Given the description of an element on the screen output the (x, y) to click on. 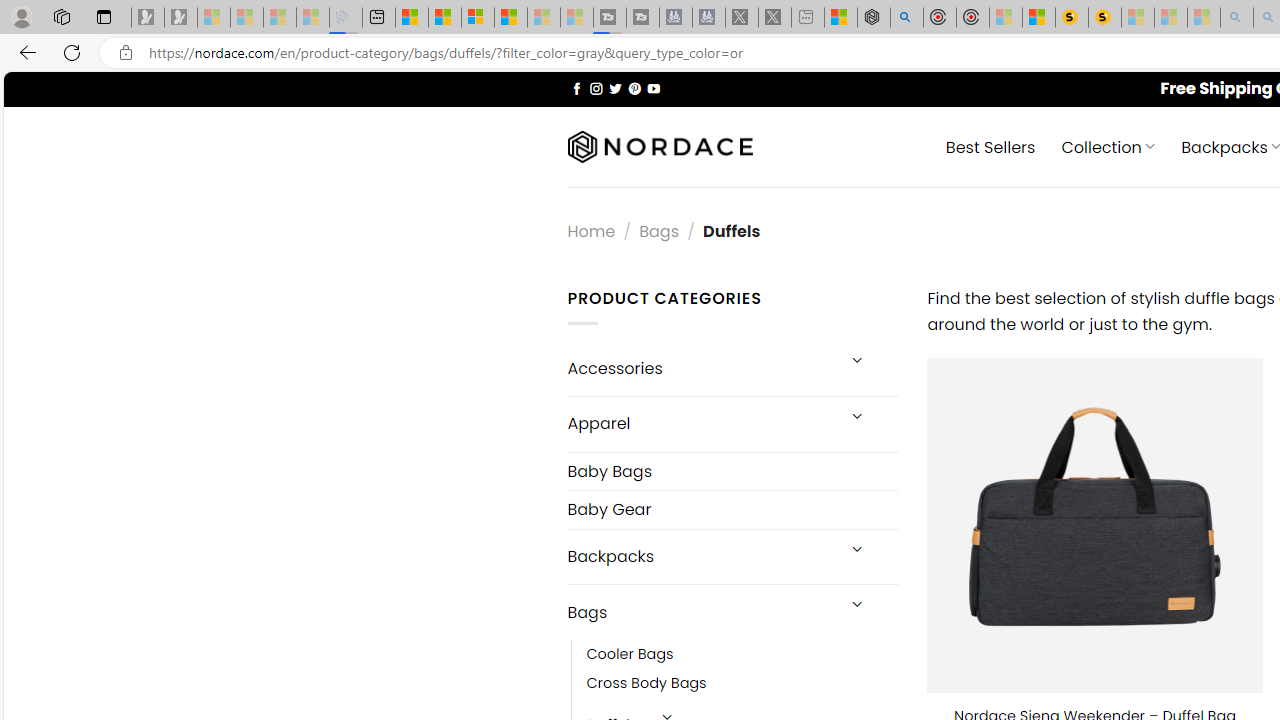
Apparel (700, 423)
Baby Gear (732, 510)
poe - Search (906, 17)
Cross Body Bags (742, 683)
  Best Sellers (989, 146)
Follow on Instagram (596, 88)
Follow on Twitter (615, 88)
Baby Gear (732, 509)
Microsoft Start - Sleeping (543, 17)
Streaming Coverage | T3 - Sleeping (609, 17)
